Given the description of an element on the screen output the (x, y) to click on. 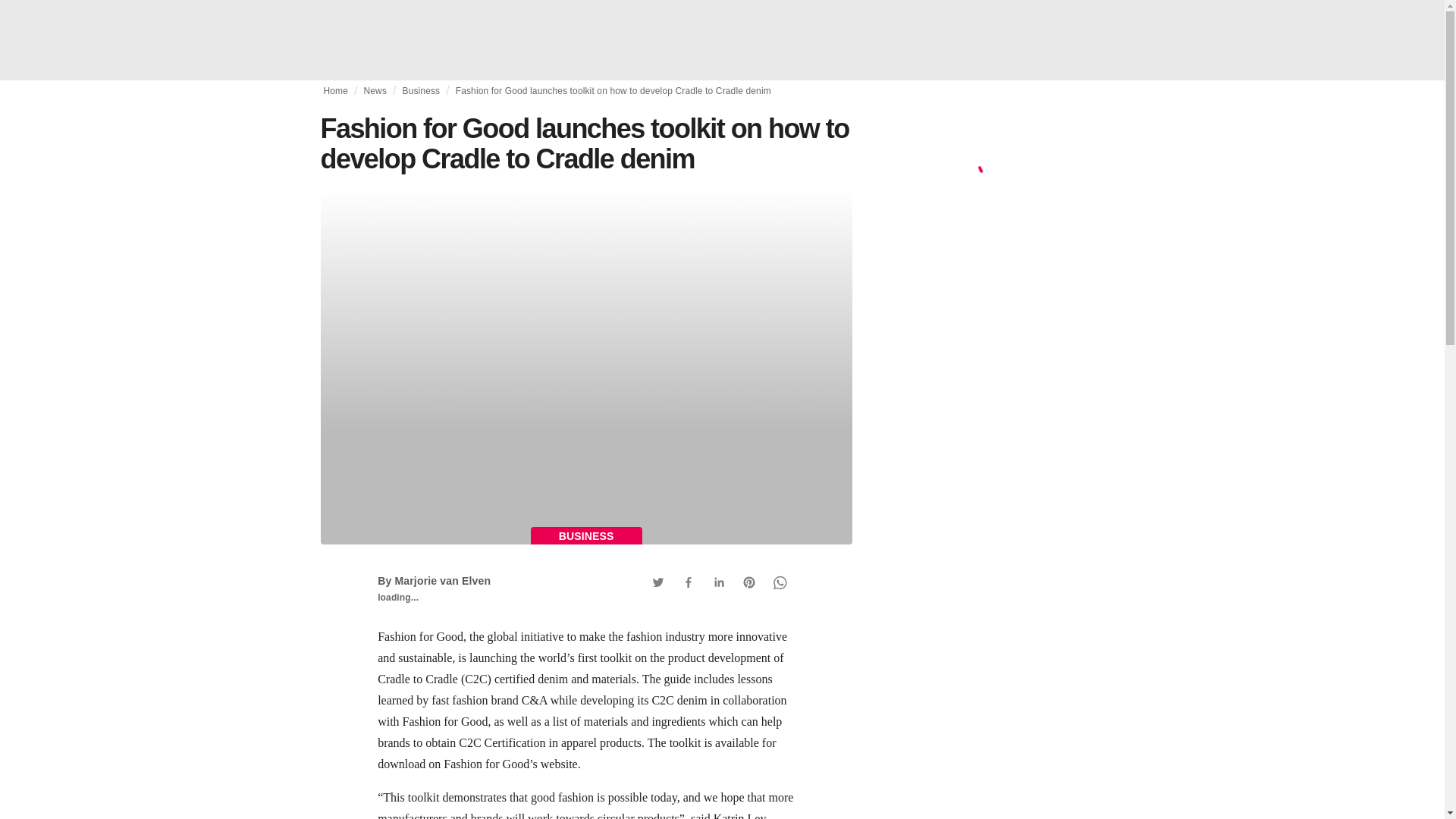
By Marjorie van Elven (433, 580)
Home (335, 90)
News (375, 90)
Business (420, 90)
